Given the description of an element on the screen output the (x, y) to click on. 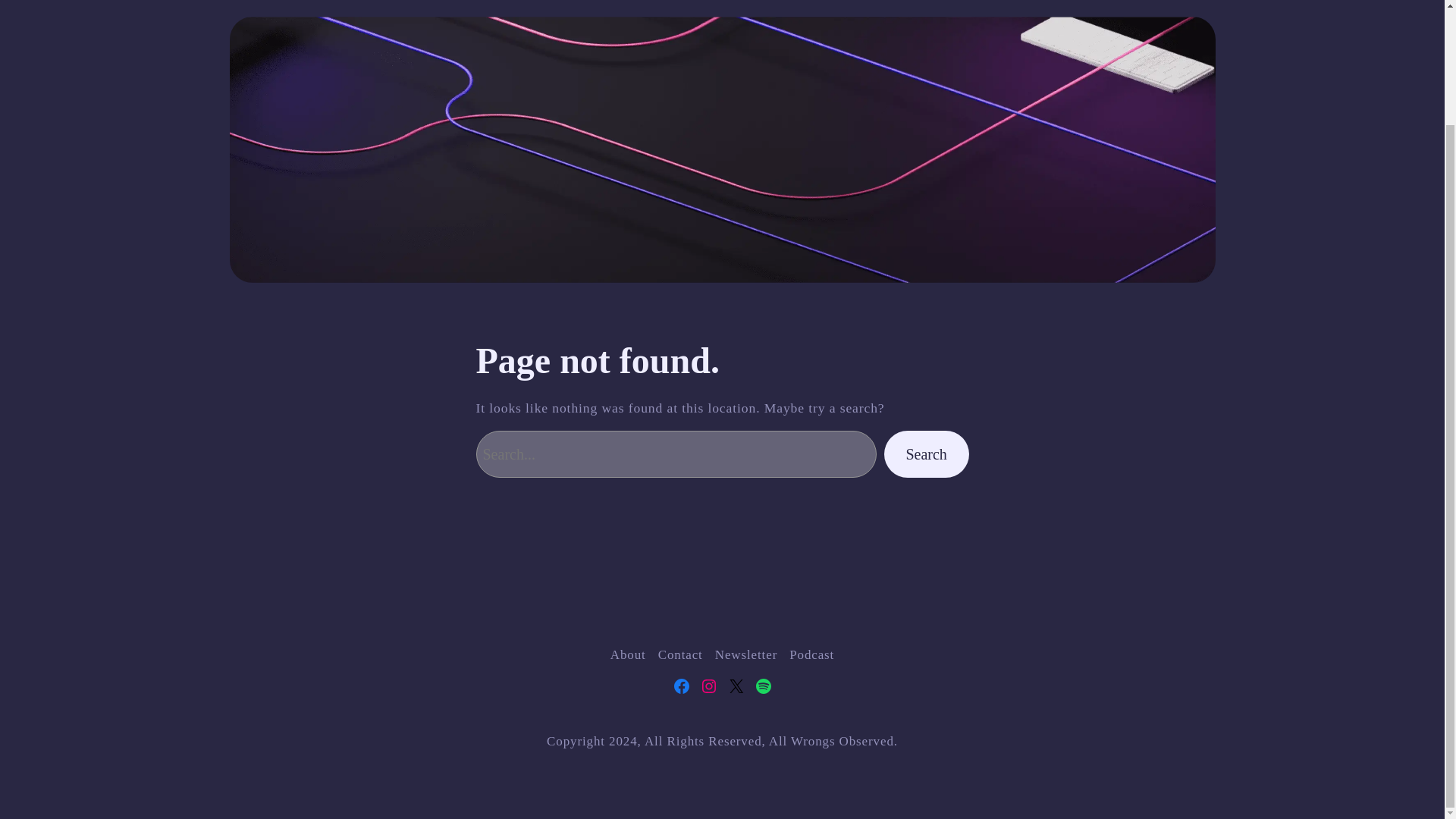
Podcast (811, 654)
Search (926, 454)
Contact (680, 654)
Instagram (707, 686)
Newsletter (745, 654)
Facebook (680, 686)
About (628, 654)
Spotify (762, 686)
X (735, 686)
